Given the description of an element on the screen output the (x, y) to click on. 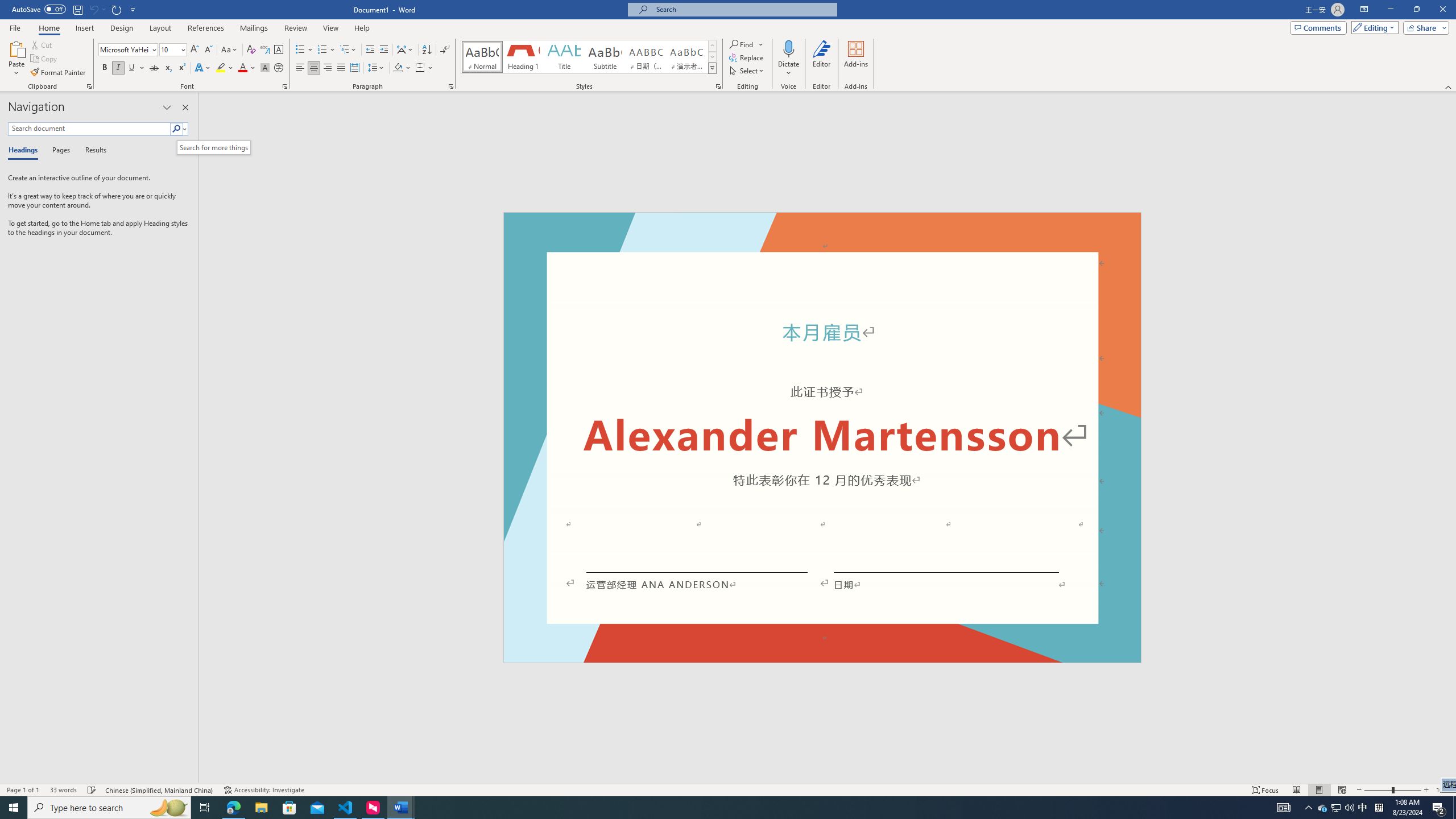
Search for more things (213, 147)
Zoom 100% (1443, 790)
